Given the description of an element on the screen output the (x, y) to click on. 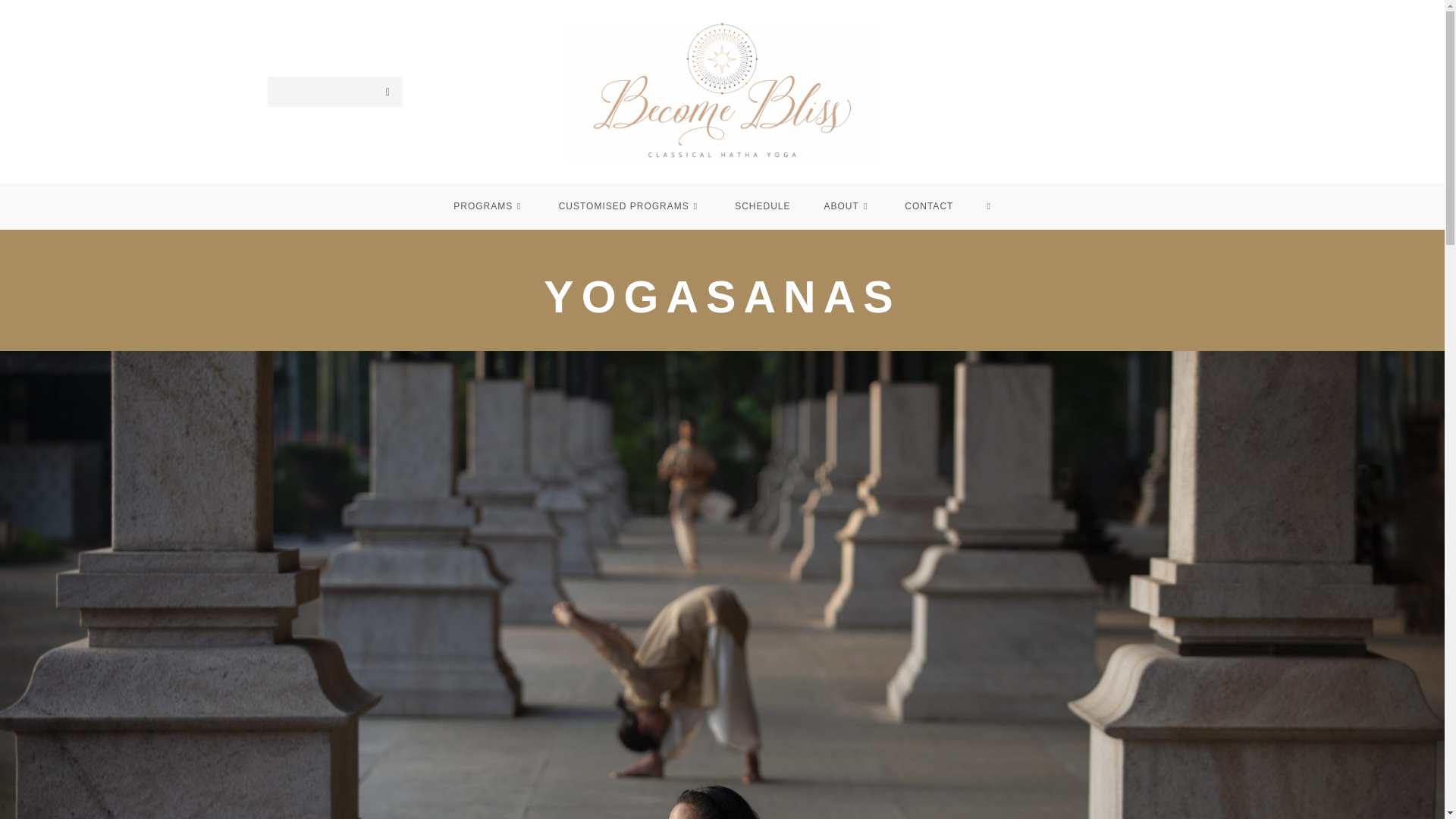
ABOUT (848, 206)
CONTACT (928, 206)
CUSTOMISED PROGRAMS (630, 206)
SCHEDULE (761, 206)
PROGRAMS (488, 206)
